Given the description of an element on the screen output the (x, y) to click on. 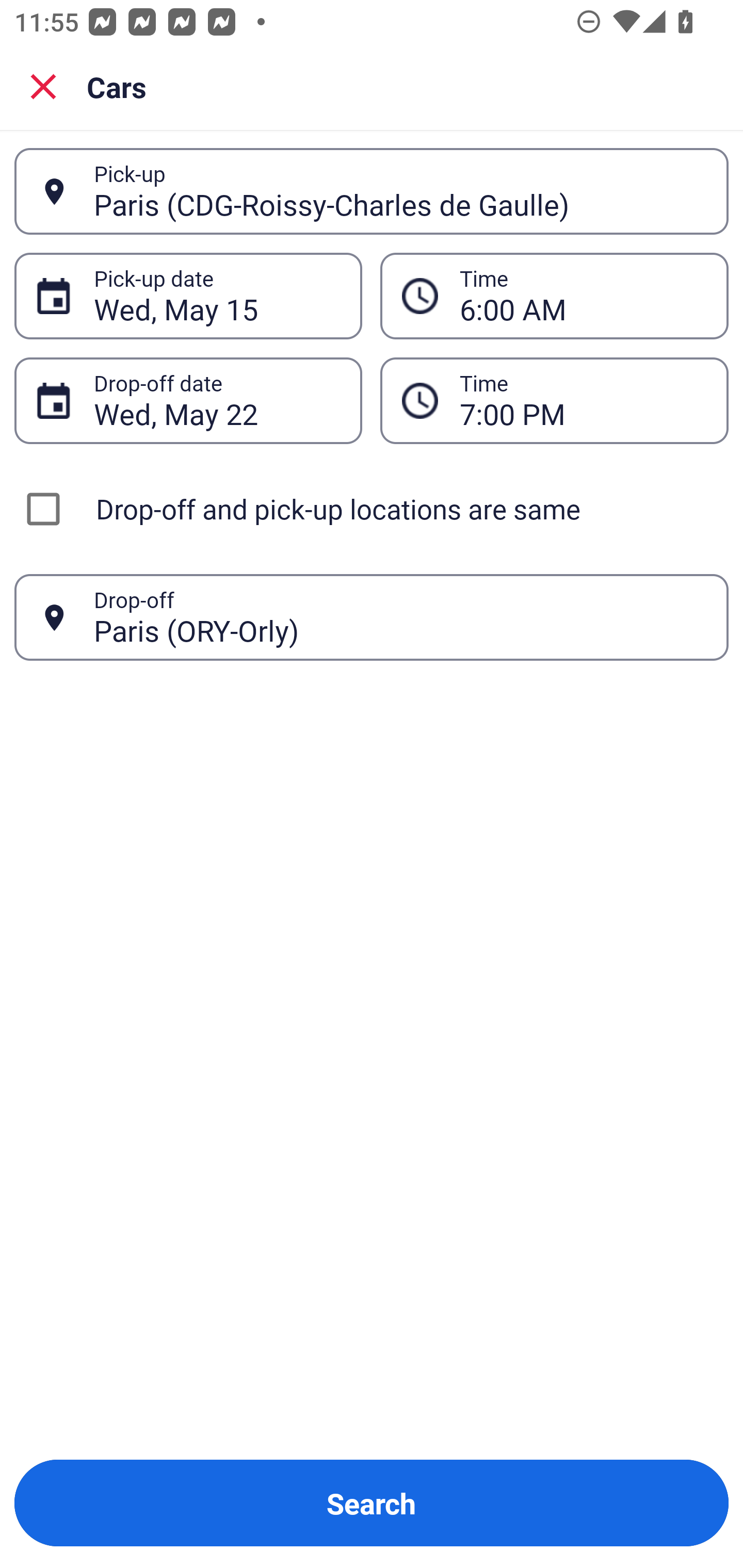
Close search screen (43, 86)
Paris (CDG-Roissy-Charles de Gaulle) Pick-up (371, 191)
Paris (CDG-Roissy-Charles de Gaulle) (399, 191)
Wed, May 15 Pick-up date (188, 295)
6:00 AM (554, 295)
Wed, May 15 (216, 296)
6:00 AM (582, 296)
Wed, May 22 Drop-off date (188, 400)
7:00 PM (554, 400)
Wed, May 22 (216, 400)
7:00 PM (582, 400)
Drop-off and pick-up locations are same (371, 508)
Paris (ORY-Orly) Drop-off (371, 616)
Paris (ORY-Orly) (399, 616)
Search Button Search (371, 1502)
